Given the description of an element on the screen output the (x, y) to click on. 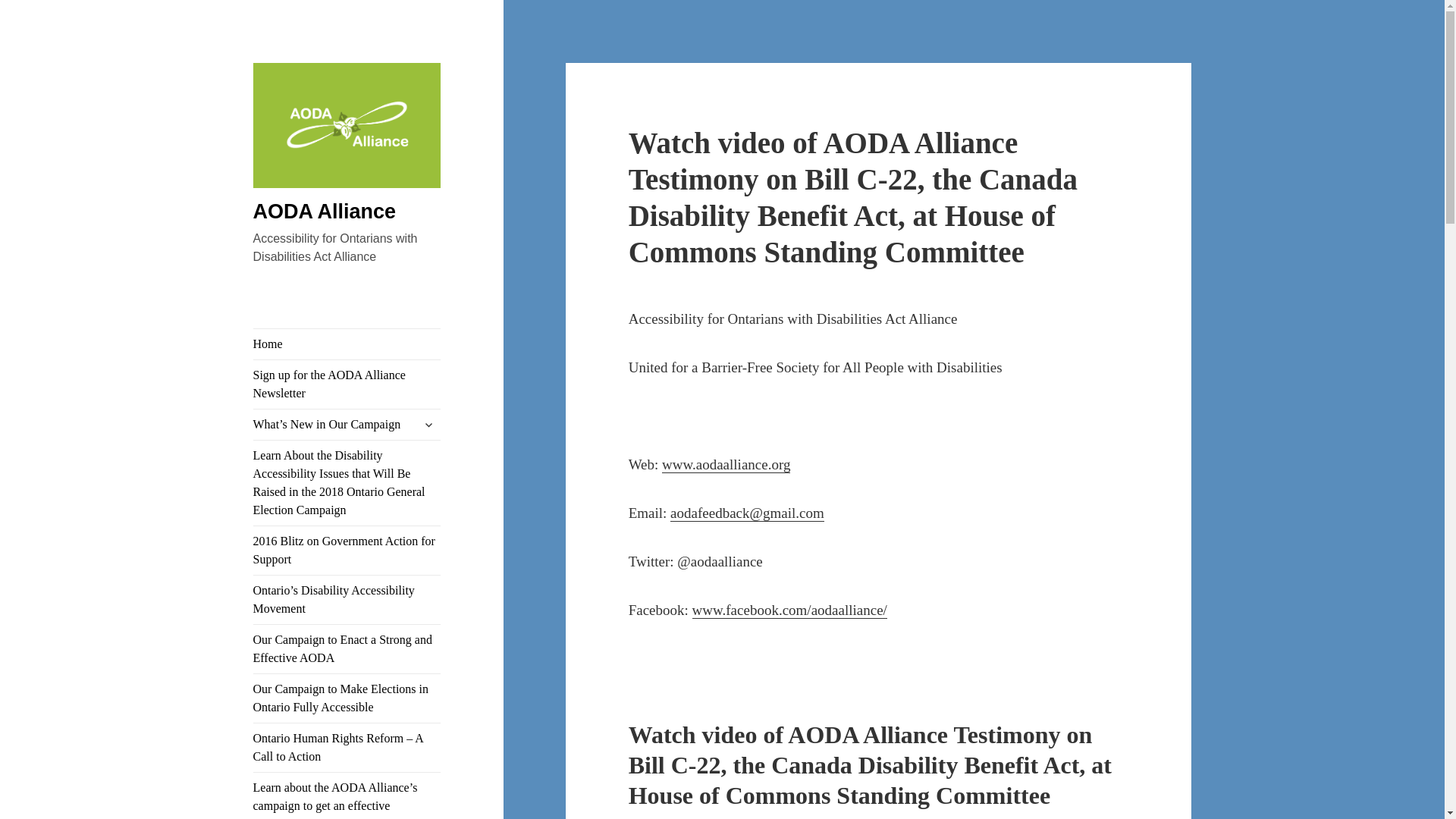
Our Campaign to Enact a Strong and Effective AODA (347, 648)
expand child menu (428, 424)
2016 Blitz on Government Action for Support (347, 550)
Our Campaign to Make Elections in Ontario Fully Accessible (347, 698)
Home (347, 344)
www.aodaalliance.org (726, 464)
AODA Alliance (347, 169)
Sign up for the AODA Alliance Newsletter (347, 384)
